Given the description of an element on the screen output the (x, y) to click on. 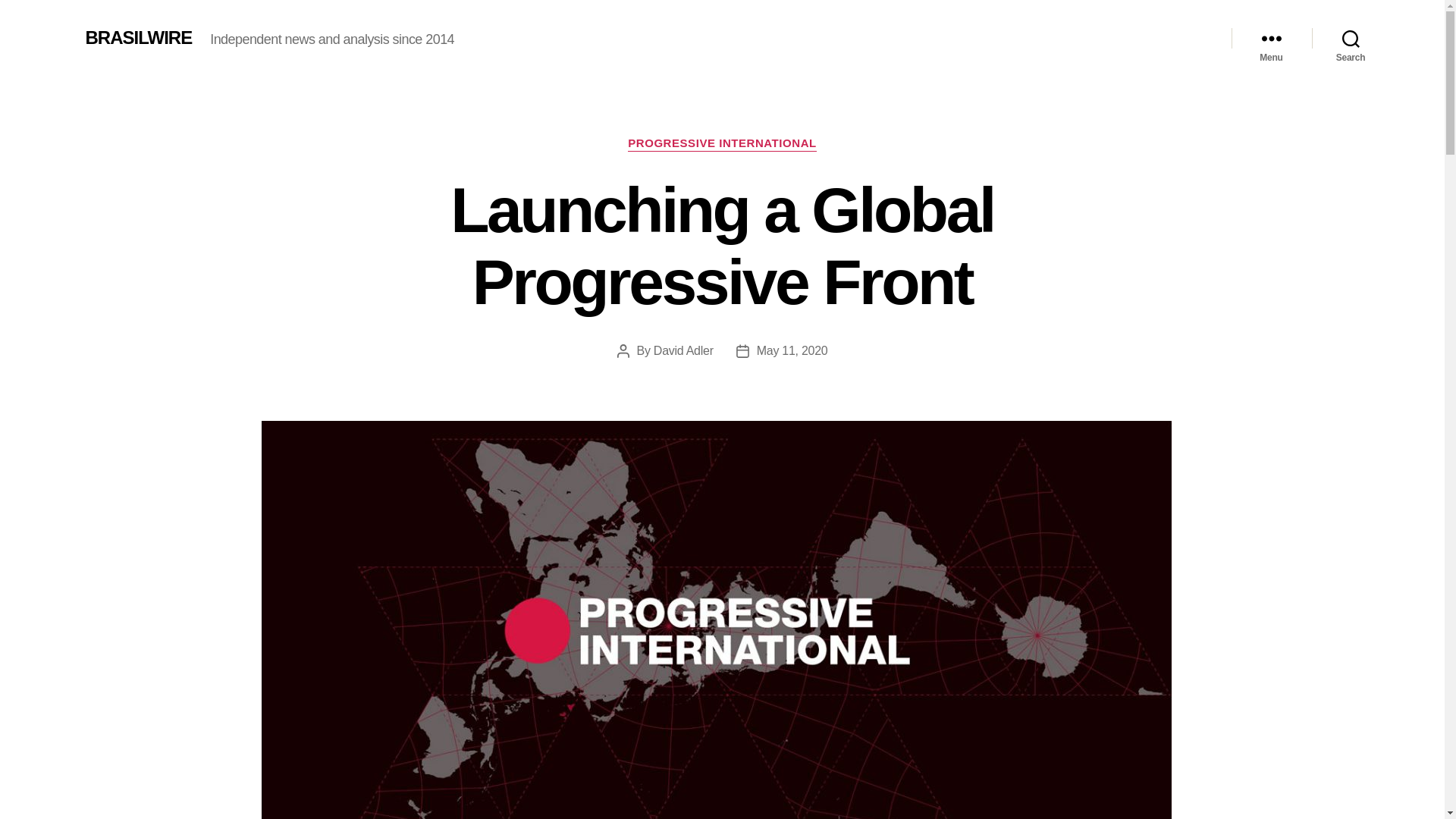
Search (1350, 37)
BRASILWIRE (138, 37)
Menu (1271, 37)
